Given the description of an element on the screen output the (x, y) to click on. 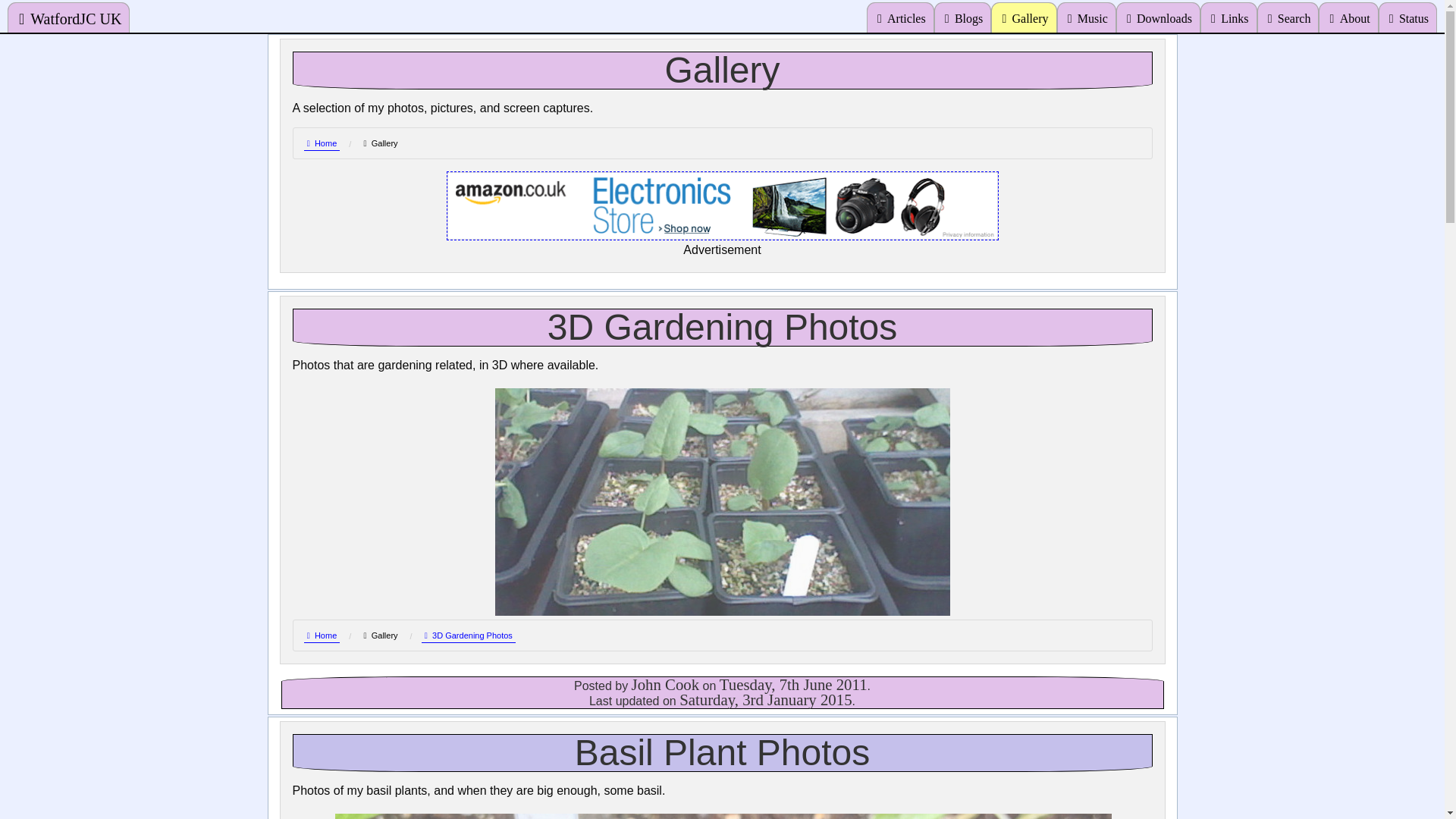
3D Gardening Photos (722, 327)
Site Search (1288, 17)
3D Gardening Photos (468, 635)
Downloads (1157, 17)
Home (320, 143)
Network Status (1407, 17)
About (1348, 17)
Gallery (379, 635)
Blog Posts (962, 17)
Gallery (379, 142)
